Given the description of an element on the screen output the (x, y) to click on. 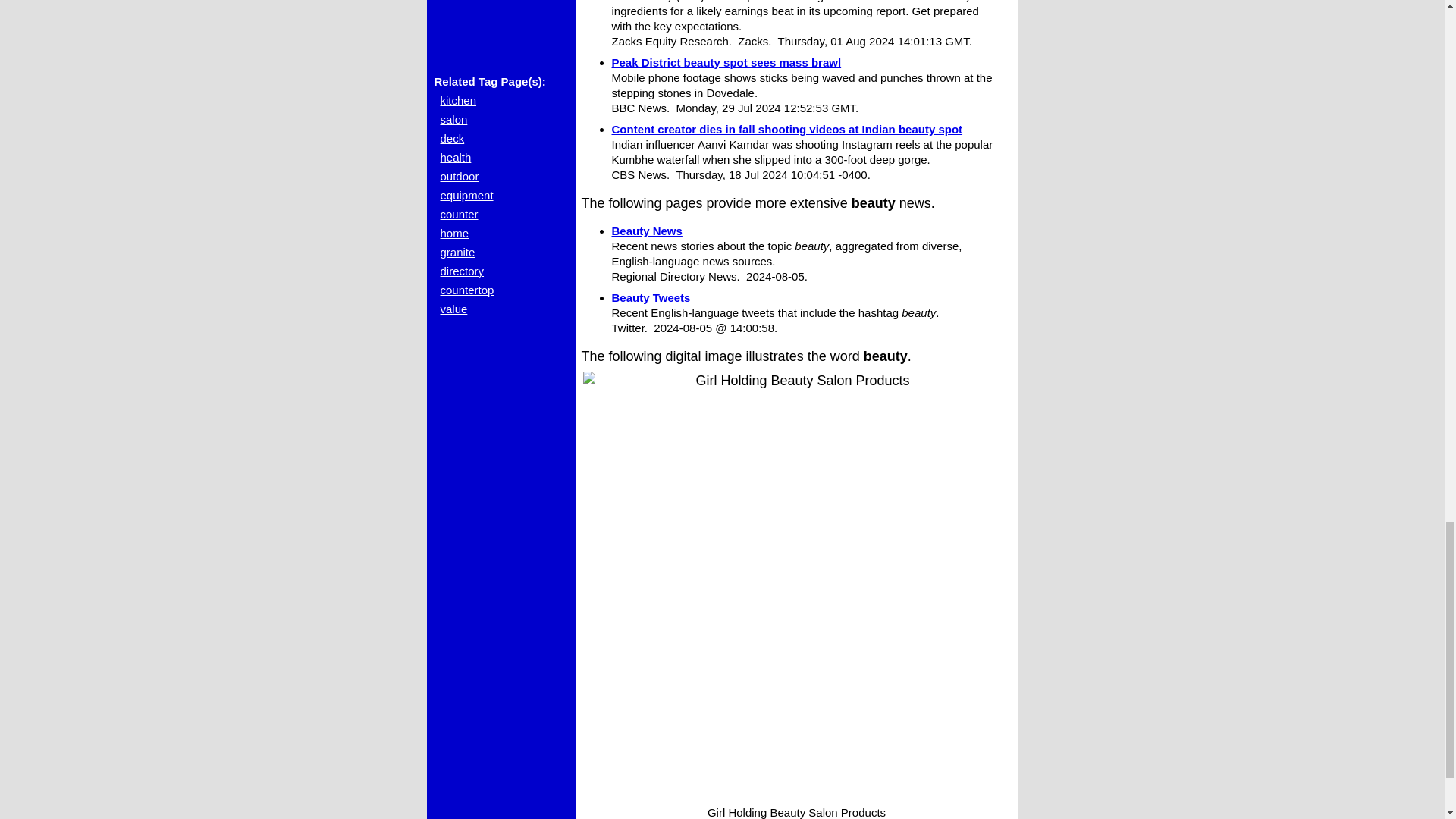
Beauty Tweets (650, 297)
Beauty News (646, 230)
Peak District beauty spot sees mass brawl (726, 62)
